Given the description of an element on the screen output the (x, y) to click on. 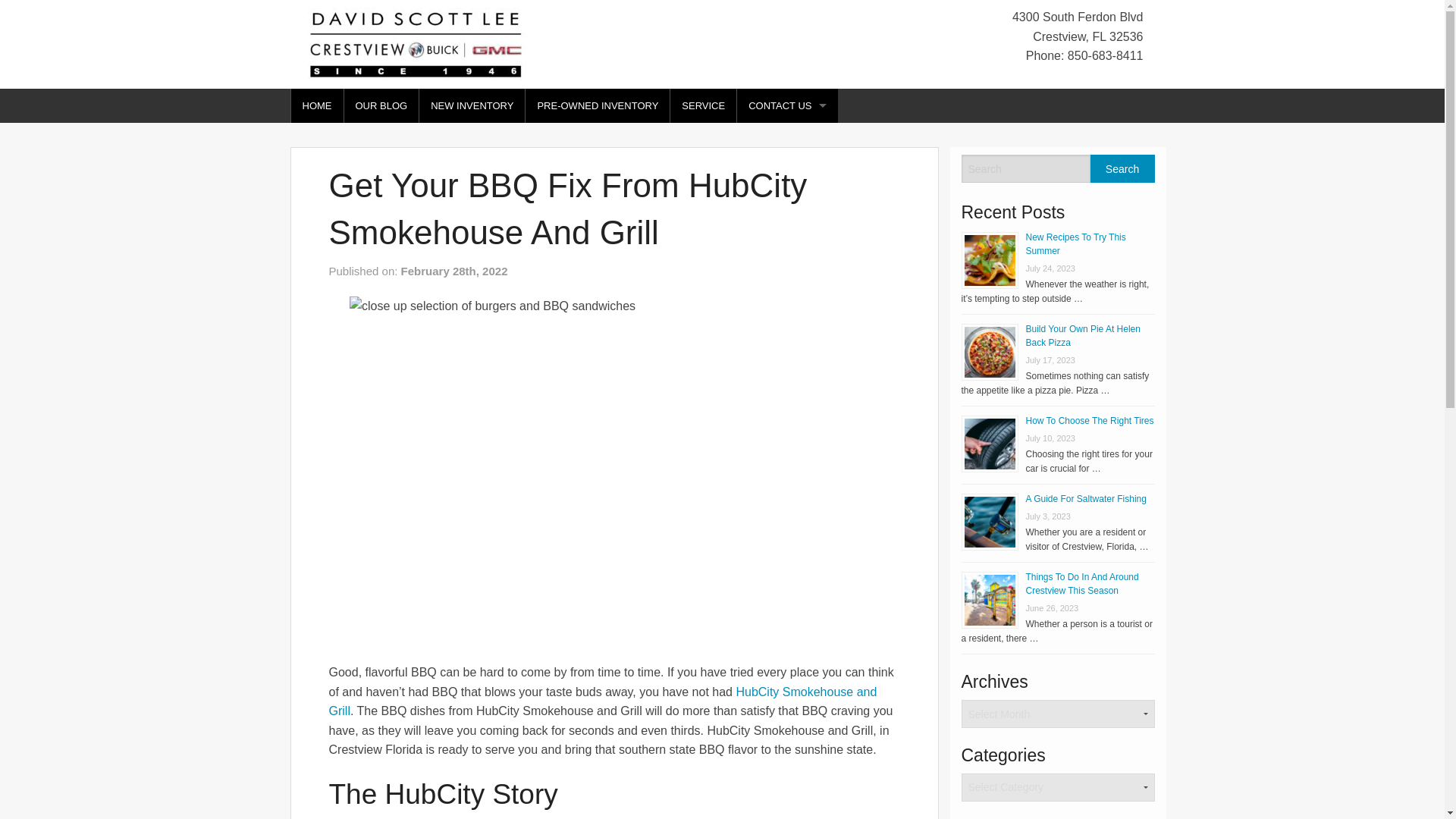
Permalink to Build Your Own Pie At Helen Back Pizza (1082, 335)
Search (1122, 168)
Search (1122, 168)
CONTACT US (787, 105)
Things To Do In And Around Crestview This Season (1081, 583)
OUR BLOG (381, 105)
Permalink to How To Choose The Right Tires (1089, 420)
HOME (317, 105)
New Recipes To Try This Summer (1075, 243)
David Scott Lee Buick GMC (415, 42)
